Given the description of an element on the screen output the (x, y) to click on. 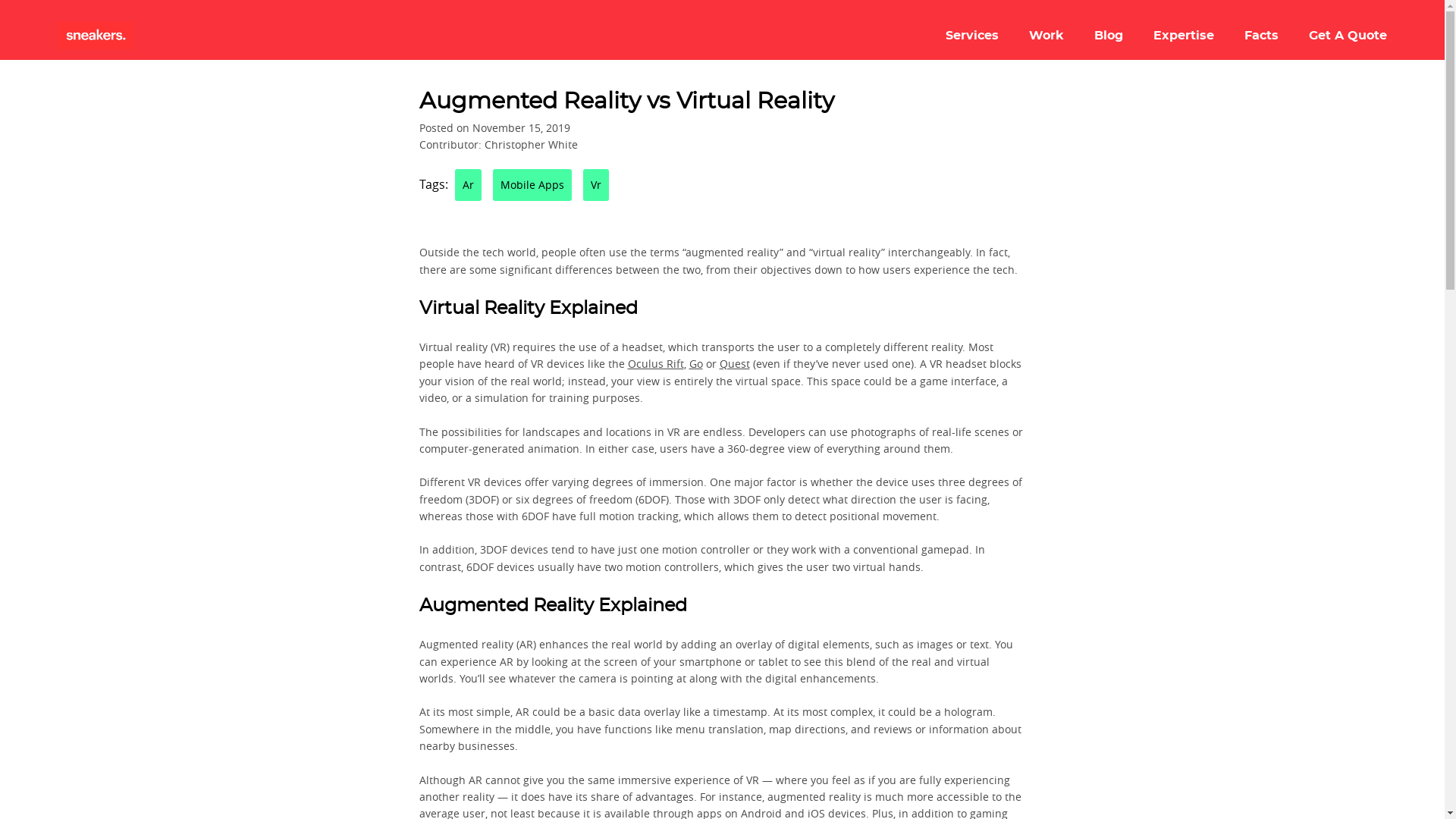
Mobile Apps (532, 184)
Services (971, 35)
Get A Quote (1347, 35)
Quest (734, 363)
Blog (1108, 35)
Work (1046, 35)
Go (694, 363)
Facts (1261, 35)
Expertise (1183, 35)
Oculus Rift (655, 363)
